Given the description of an element on the screen output the (x, y) to click on. 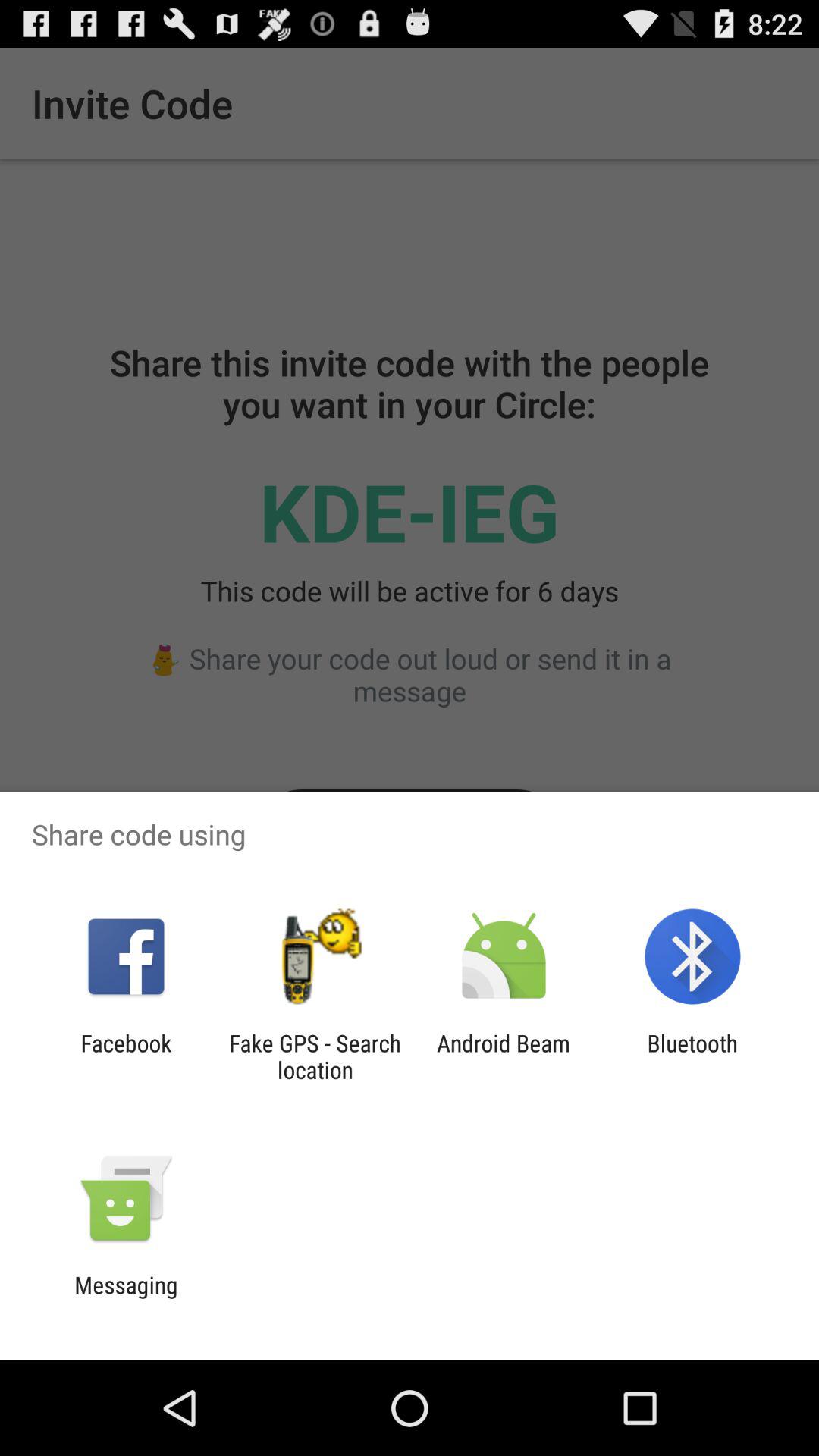
turn off app next to the fake gps search (125, 1056)
